Given the description of an element on the screen output the (x, y) to click on. 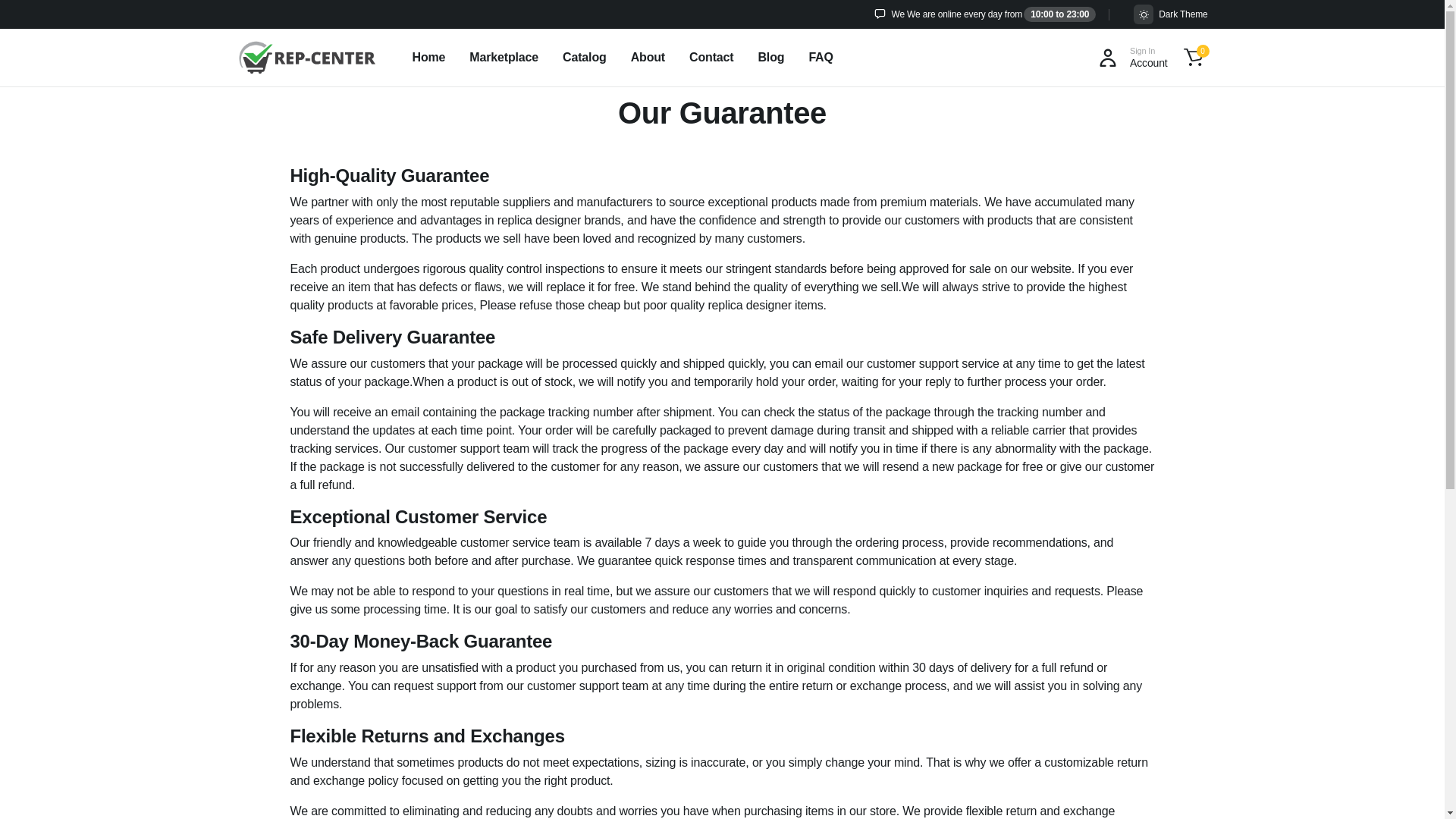
Dark Theme (1170, 14)
Catalog (1130, 57)
Marketplace (584, 57)
10:00 to 23:00 (503, 57)
About (1059, 14)
FAQ (647, 57)
ReplicaCenter (820, 57)
Contact (306, 57)
Home (711, 57)
0 (428, 57)
Blog (1192, 57)
